Given the description of an element on the screen output the (x, y) to click on. 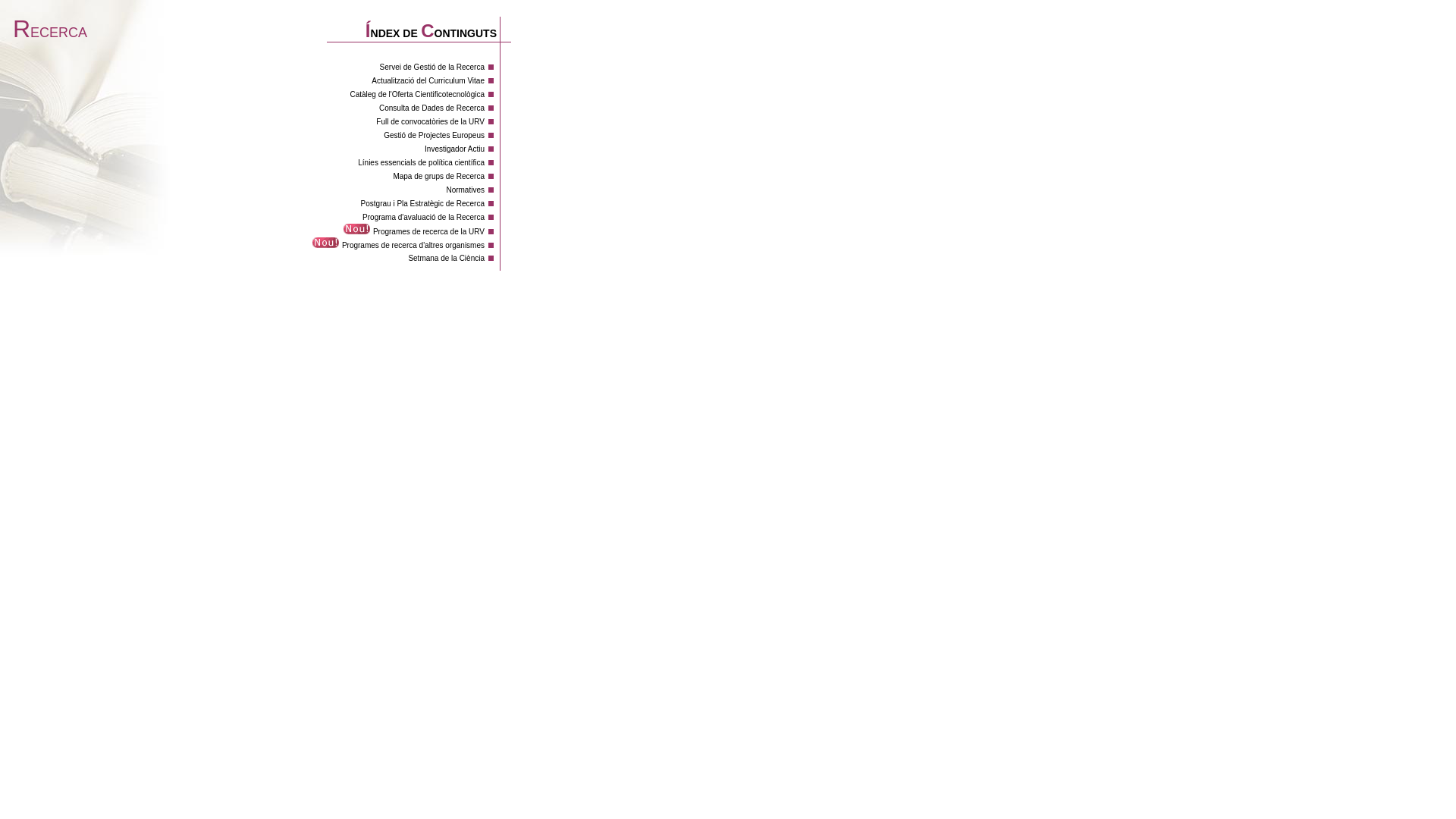
Normatives Element type: text (464, 189)
Programes de recerca d'altres organismes Element type: text (413, 245)
Investigador Actiu Element type: text (454, 148)
Mapa de grups de Recerca Element type: text (438, 175)
Consulta de Dades de Recerca Element type: text (431, 107)
Programes de recerca de la URV Element type: text (428, 231)
